Given the description of an element on the screen output the (x, y) to click on. 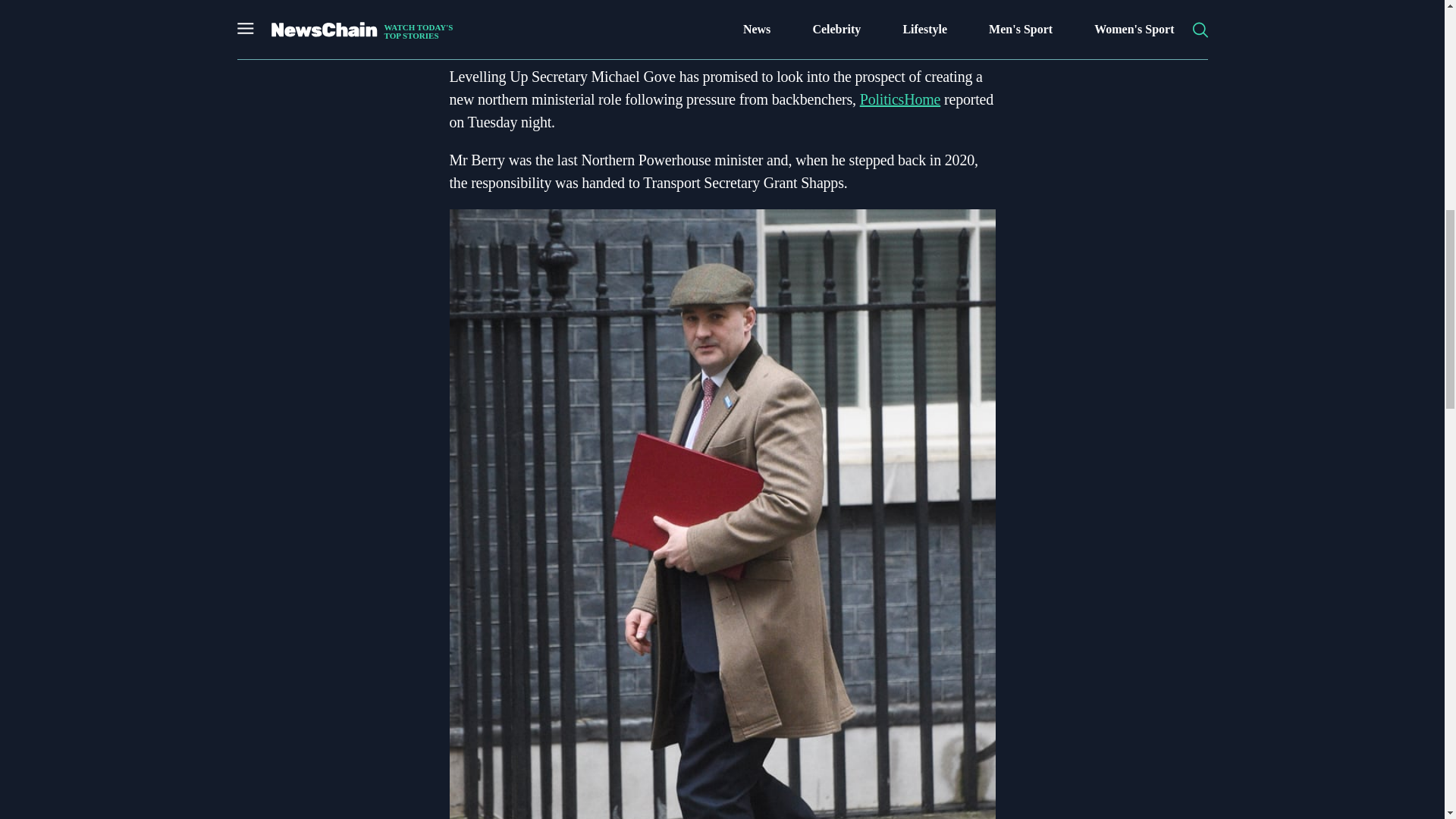
PoliticsHome (900, 98)
